Given the description of an element on the screen output the (x, y) to click on. 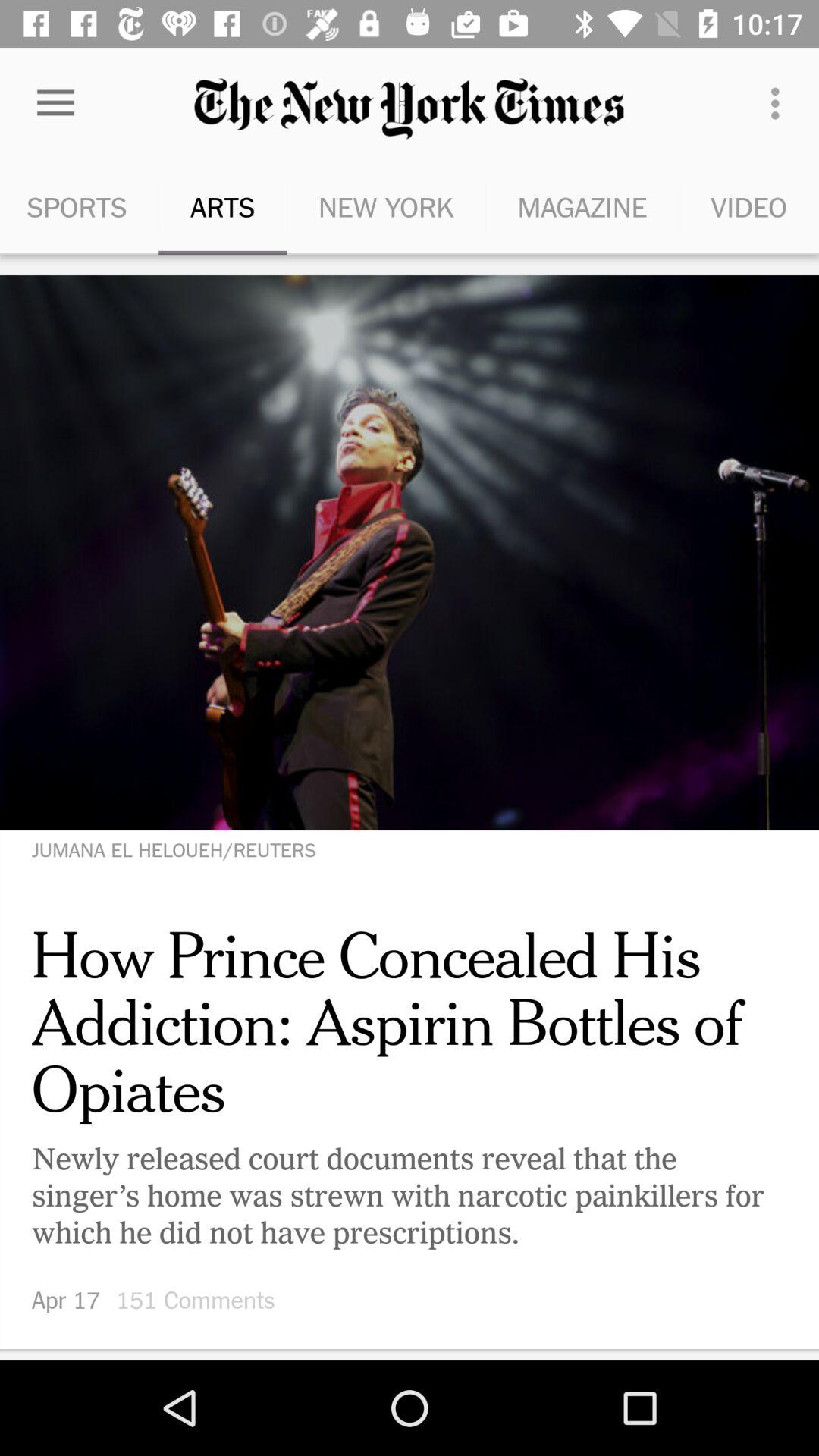
launch the sports (79, 206)
